Given the description of an element on the screen output the (x, y) to click on. 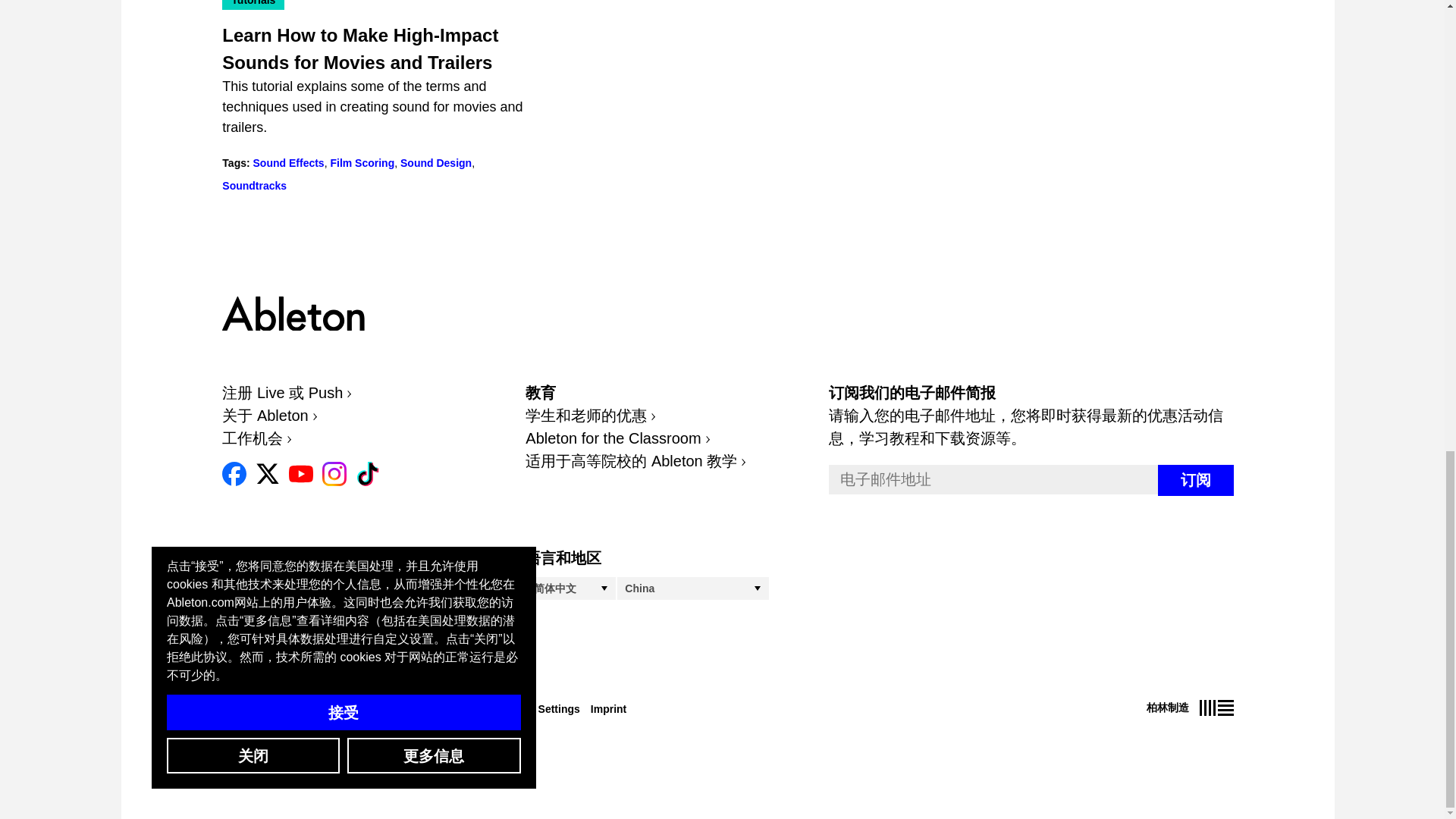
Go to TikTok (367, 473)
Go to Twitter (266, 473)
Go to Instagram (333, 473)
Go to Youtube (300, 473)
Go to Facebook (233, 473)
